Given the description of an element on the screen output the (x, y) to click on. 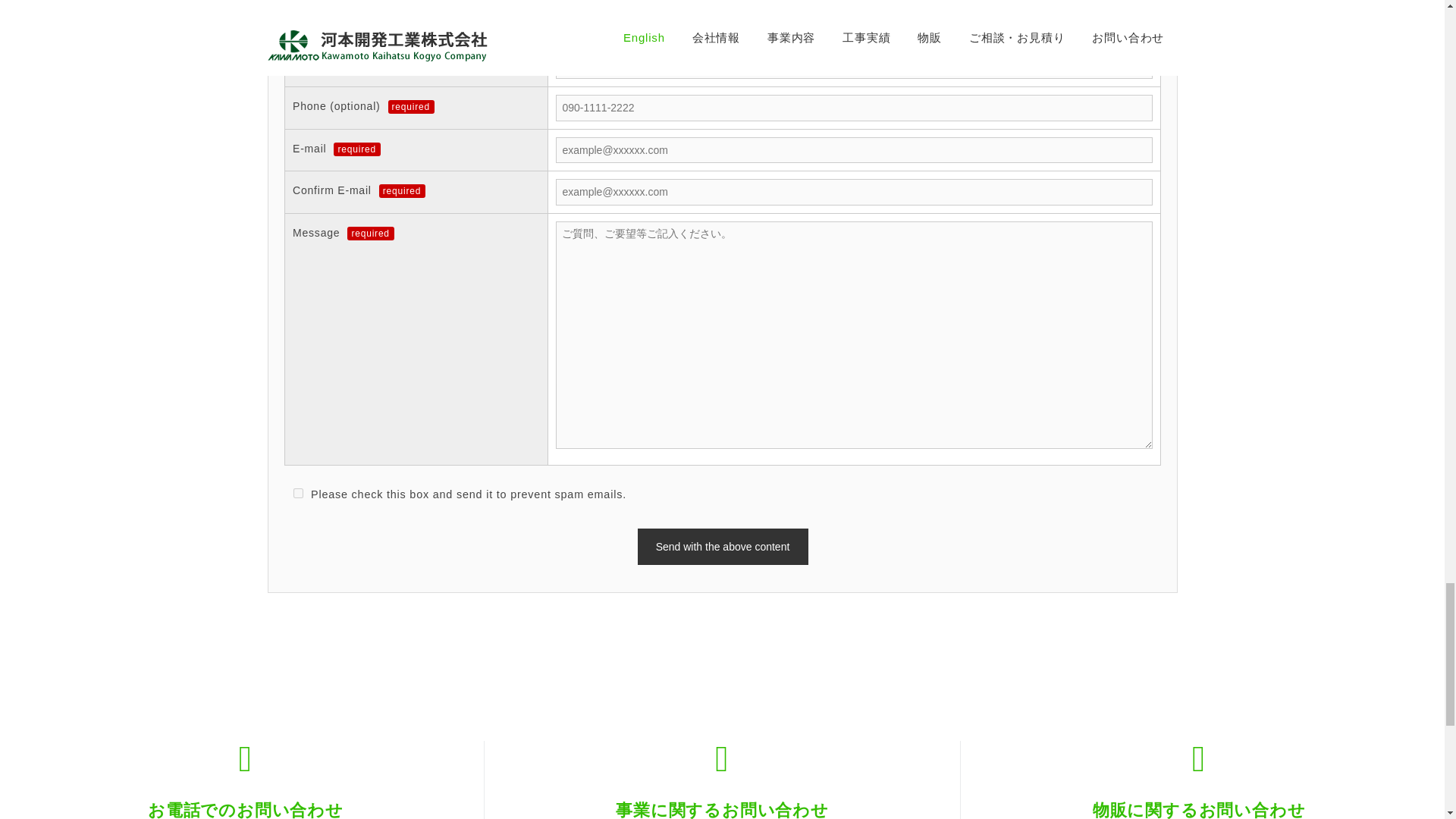
Send with the above content (722, 546)
Send with the above content (722, 546)
1 (297, 492)
